Given the description of an element on the screen output the (x, y) to click on. 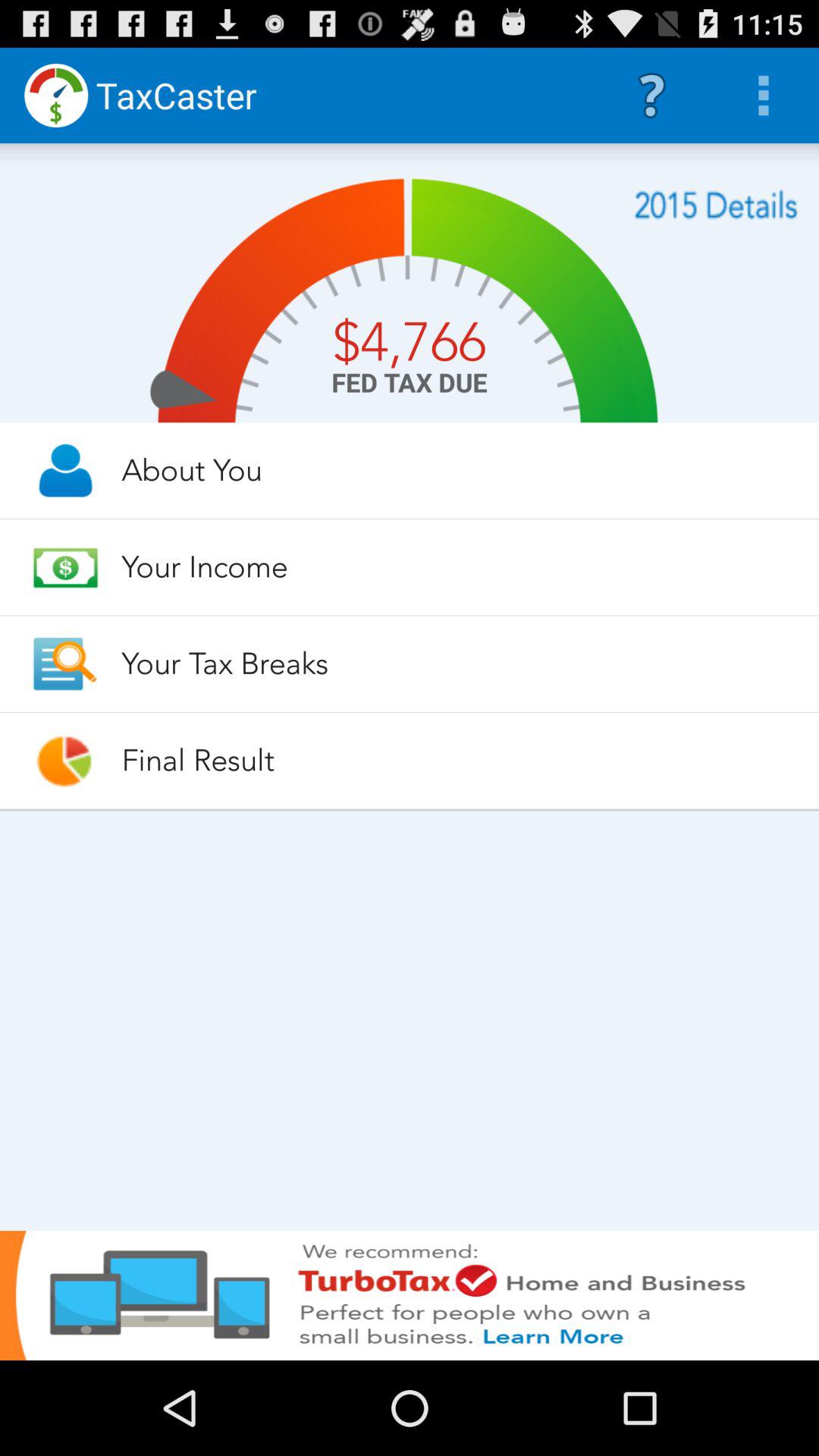
swipe to about you (456, 470)
